Given the description of an element on the screen output the (x, y) to click on. 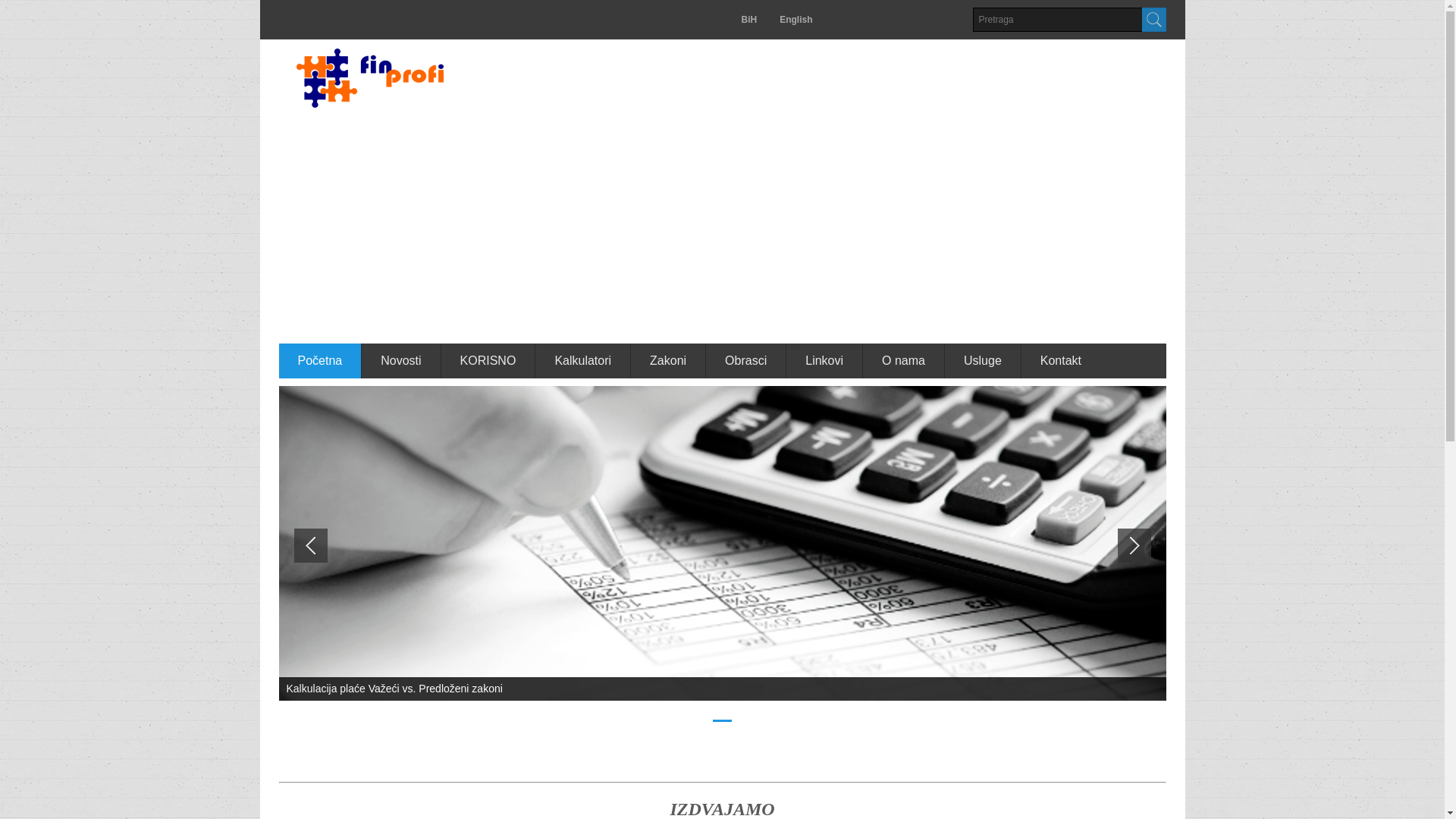
KORISNO Element type: text (488, 360)
Kalkulatori Element type: text (582, 360)
English Element type: text (795, 19)
Linkovi Element type: text (824, 360)
Zakoni Element type: text (668, 360)
O nama Element type: text (903, 360)
Kontakt Element type: text (1060, 360)
Advertisement Element type: hover (722, 228)
Usluge Element type: text (982, 360)
Novosti Element type: text (400, 360)
BiH Element type: text (754, 19)
1 Element type: text (721, 720)
Obrasci Element type: text (746, 360)
